Given the description of an element on the screen output the (x, y) to click on. 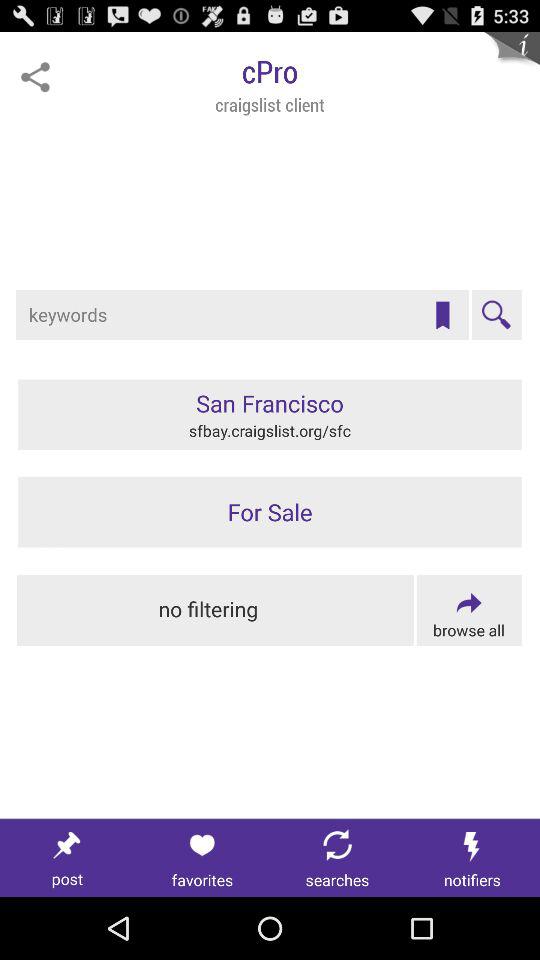
navigate to favorites (202, 858)
